Given the description of an element on the screen output the (x, y) to click on. 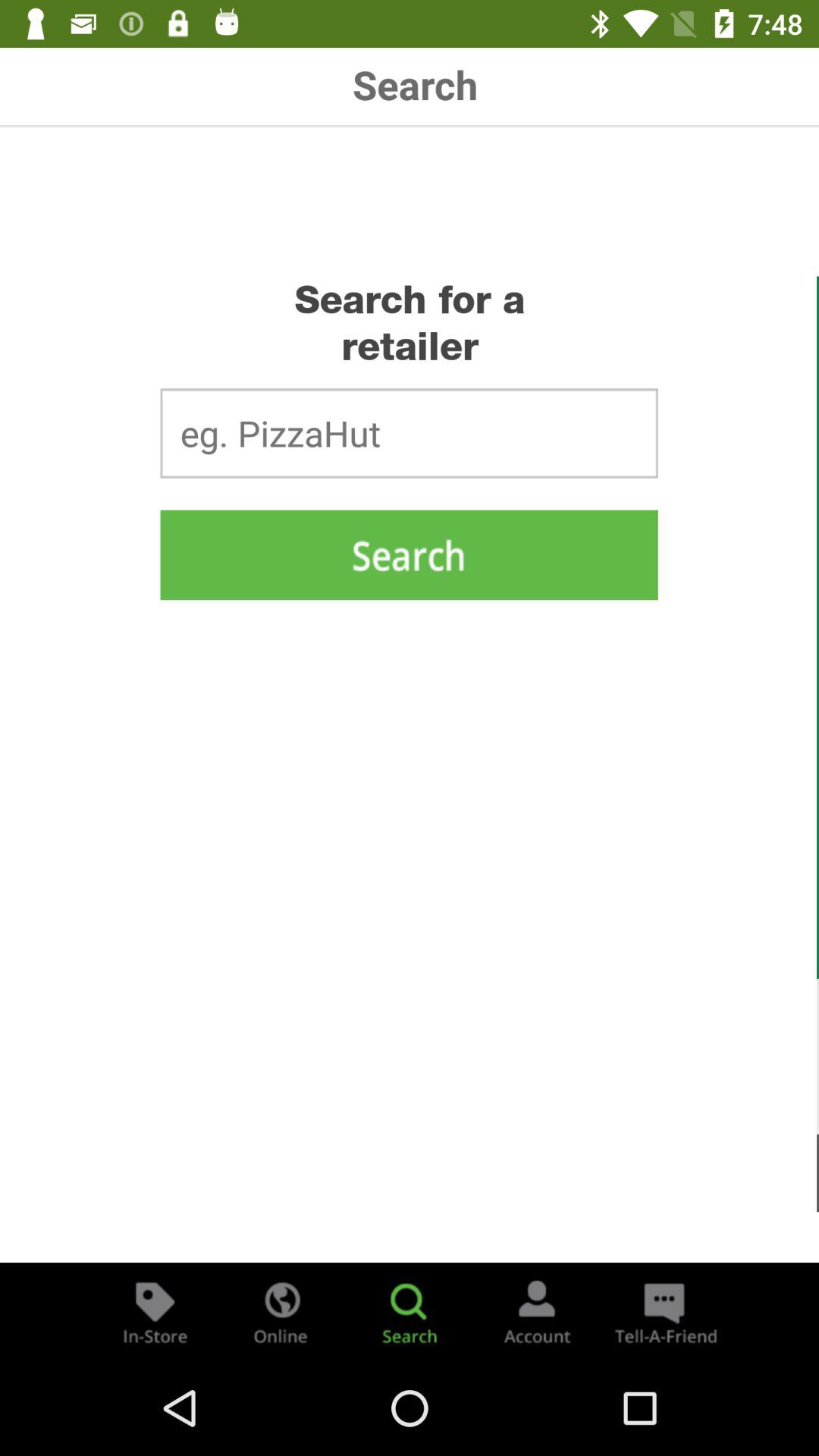
enter retailer name in the input box (409, 433)
